Given the description of an element on the screen output the (x, y) to click on. 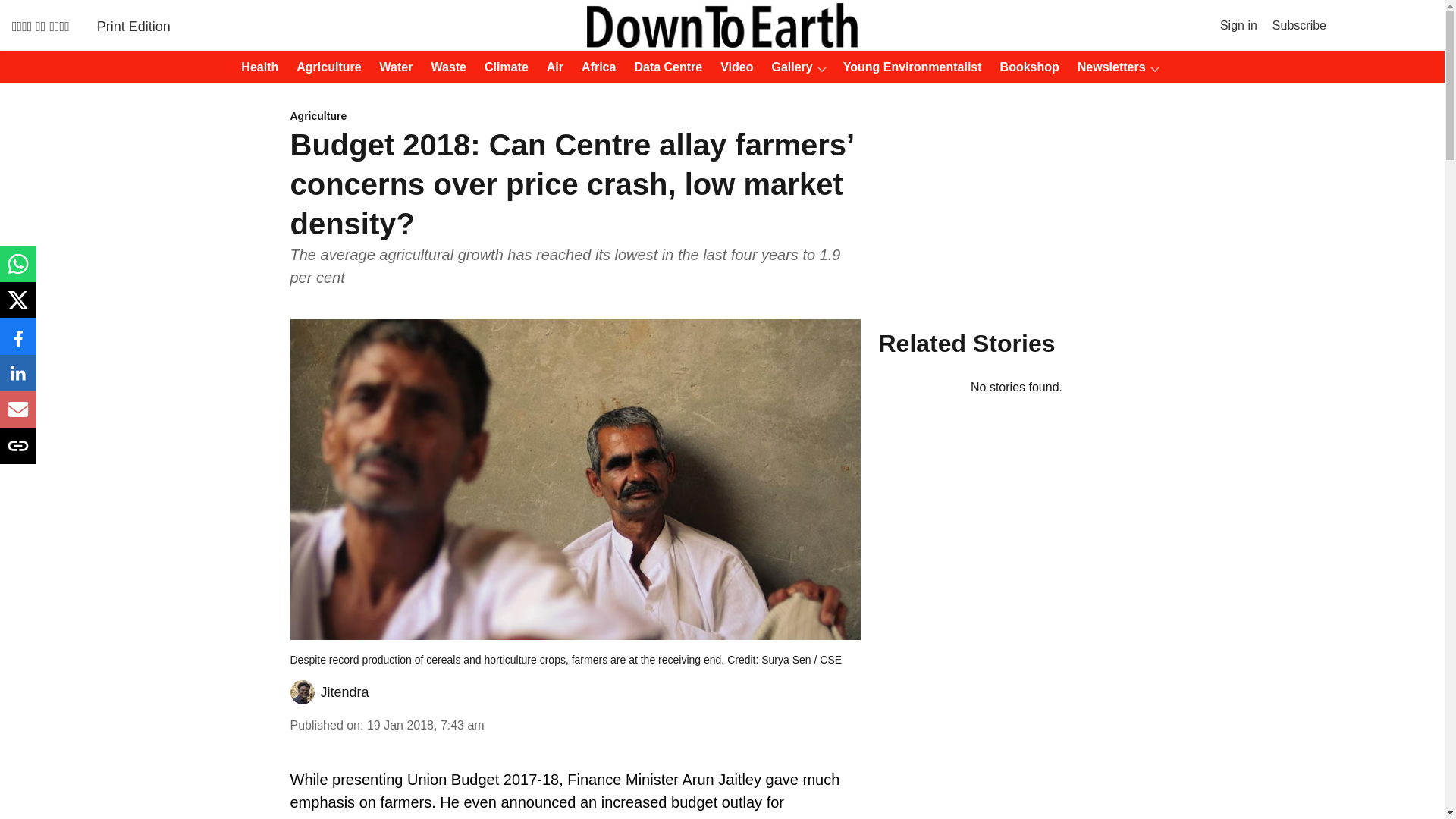
Data Centre (662, 67)
Health (254, 67)
2018-01-18 23:43 (425, 725)
Video (731, 67)
Agriculture (574, 116)
Waste (443, 67)
Jitendra (344, 692)
Young Environmentalist (907, 67)
Africa (593, 67)
Print Edition (133, 26)
